Given the description of an element on the screen output the (x, y) to click on. 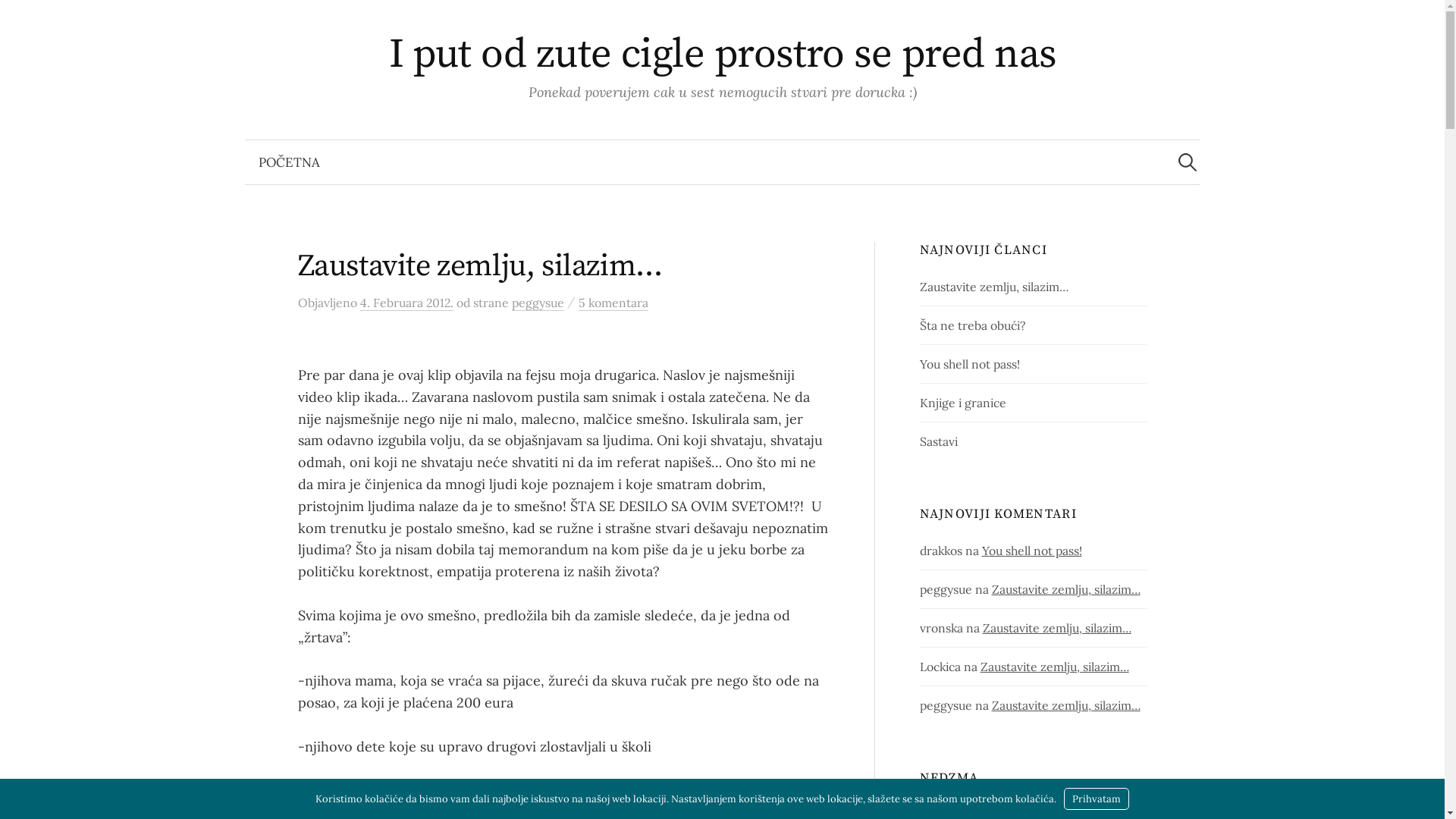
I put od zute cigle prostro se pred nas Element type: text (722, 54)
Knjige i granice Element type: text (962, 402)
You shell not pass! Element type: text (1032, 550)
4. Februara 2012. Element type: text (405, 302)
peggysue Element type: text (537, 302)
Sastavi Element type: text (938, 440)
Prihvatam Element type: text (1096, 798)
Pretraga Element type: text (18, 18)
You shell not pass! Element type: text (969, 363)
